Given the description of an element on the screen output the (x, y) to click on. 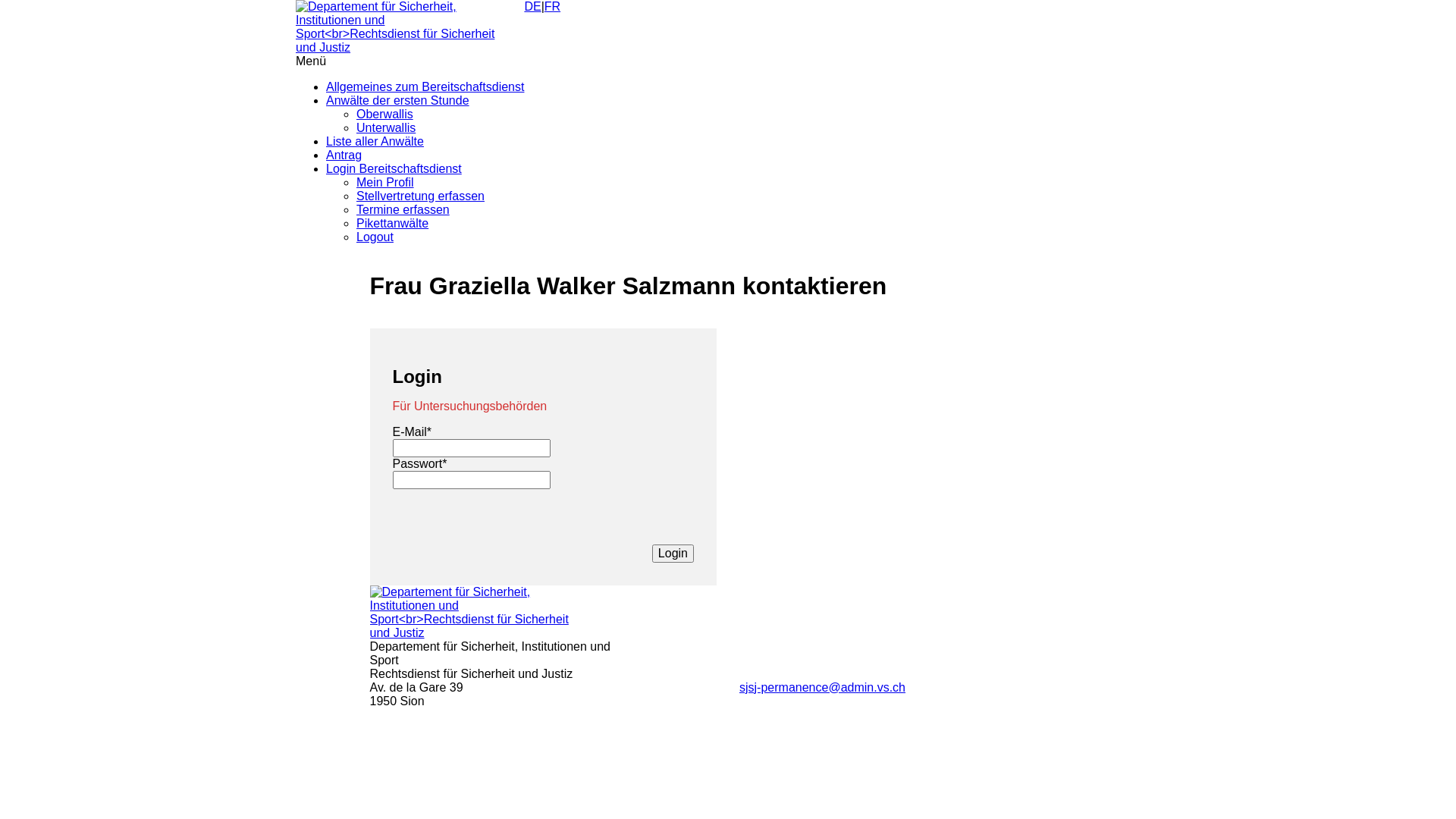
Oberwallis Element type: text (384, 113)
Logout Element type: text (374, 236)
Stellvertretung erfassen Element type: text (420, 195)
Antrag Element type: text (343, 154)
DE Element type: text (532, 6)
Mein Profil Element type: text (385, 181)
FR Element type: text (552, 6)
Allgemeines zum Bereitschaftsdienst Element type: text (425, 86)
sjsj-permanence@admin.vs.ch Element type: text (822, 686)
Termine erfassen Element type: text (402, 209)
Login Element type: text (672, 553)
Login Bereitschaftsdienst Element type: text (393, 168)
Unterwallis Element type: text (385, 127)
